Given the description of an element on the screen output the (x, y) to click on. 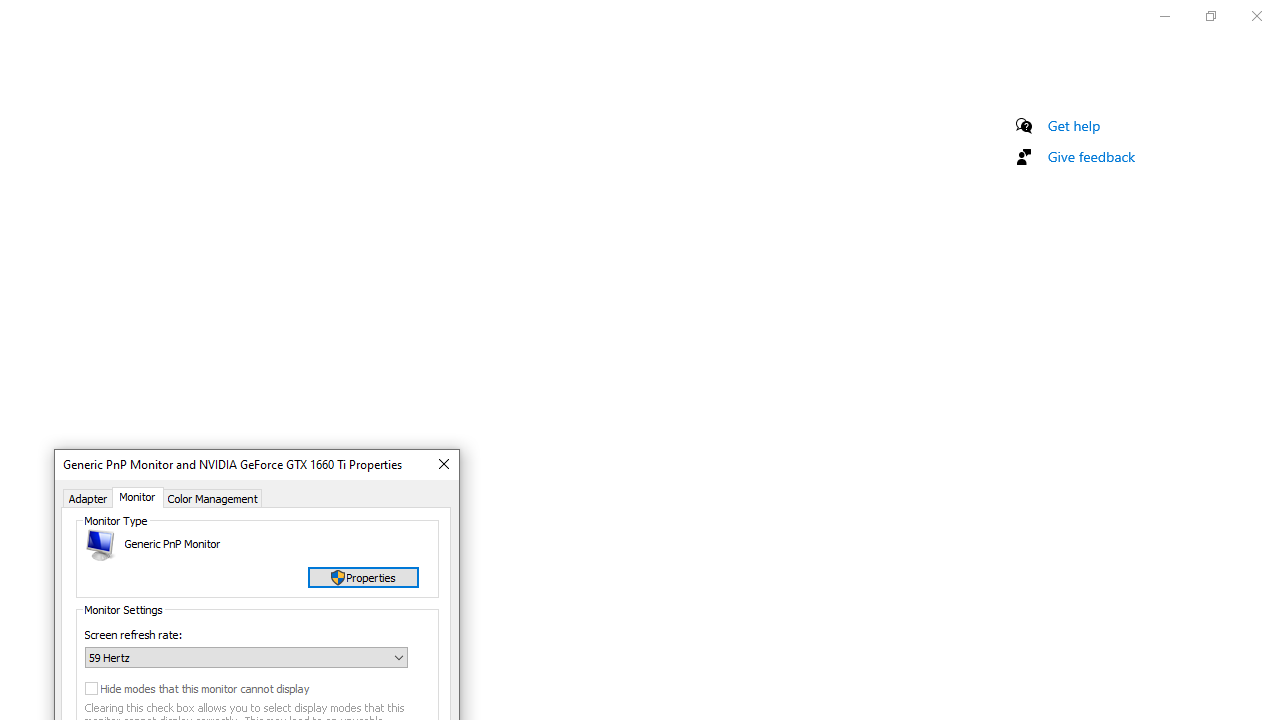
Open (399, 657)
Color Management (212, 497)
Properties (363, 576)
Hide modes that this monitor cannot display (219, 688)
Adapter (87, 497)
Monitor (137, 497)
Screen refresh rate: (246, 657)
Close (442, 465)
